Given the description of an element on the screen output the (x, y) to click on. 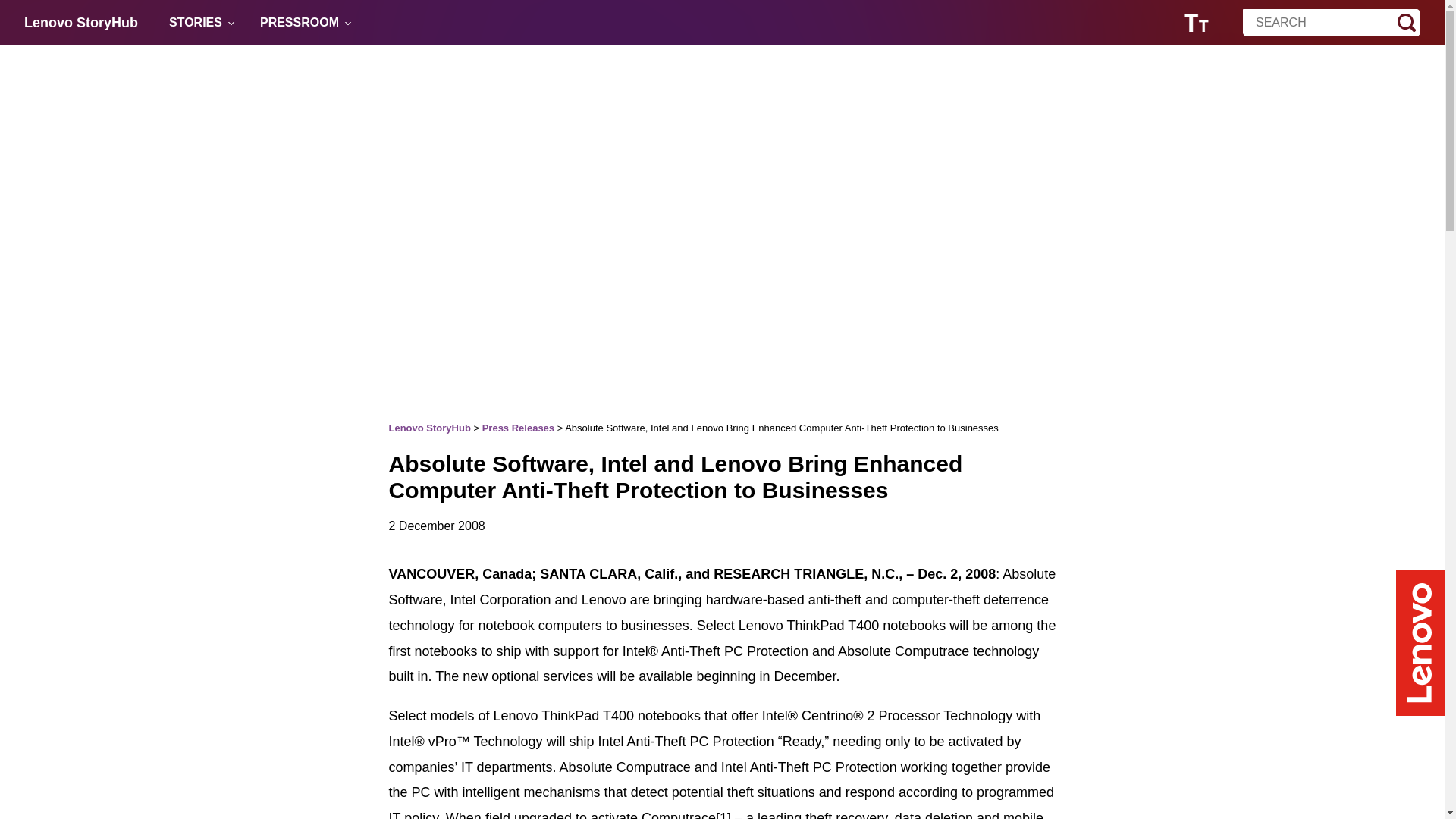
Lenovo StoryHub (429, 428)
Press Releases (517, 428)
Lenovo StoryHub (81, 23)
Lenovo StoryHub (81, 23)
PRESSROOM (299, 22)
STORIES (195, 22)
